Given the description of an element on the screen output the (x, y) to click on. 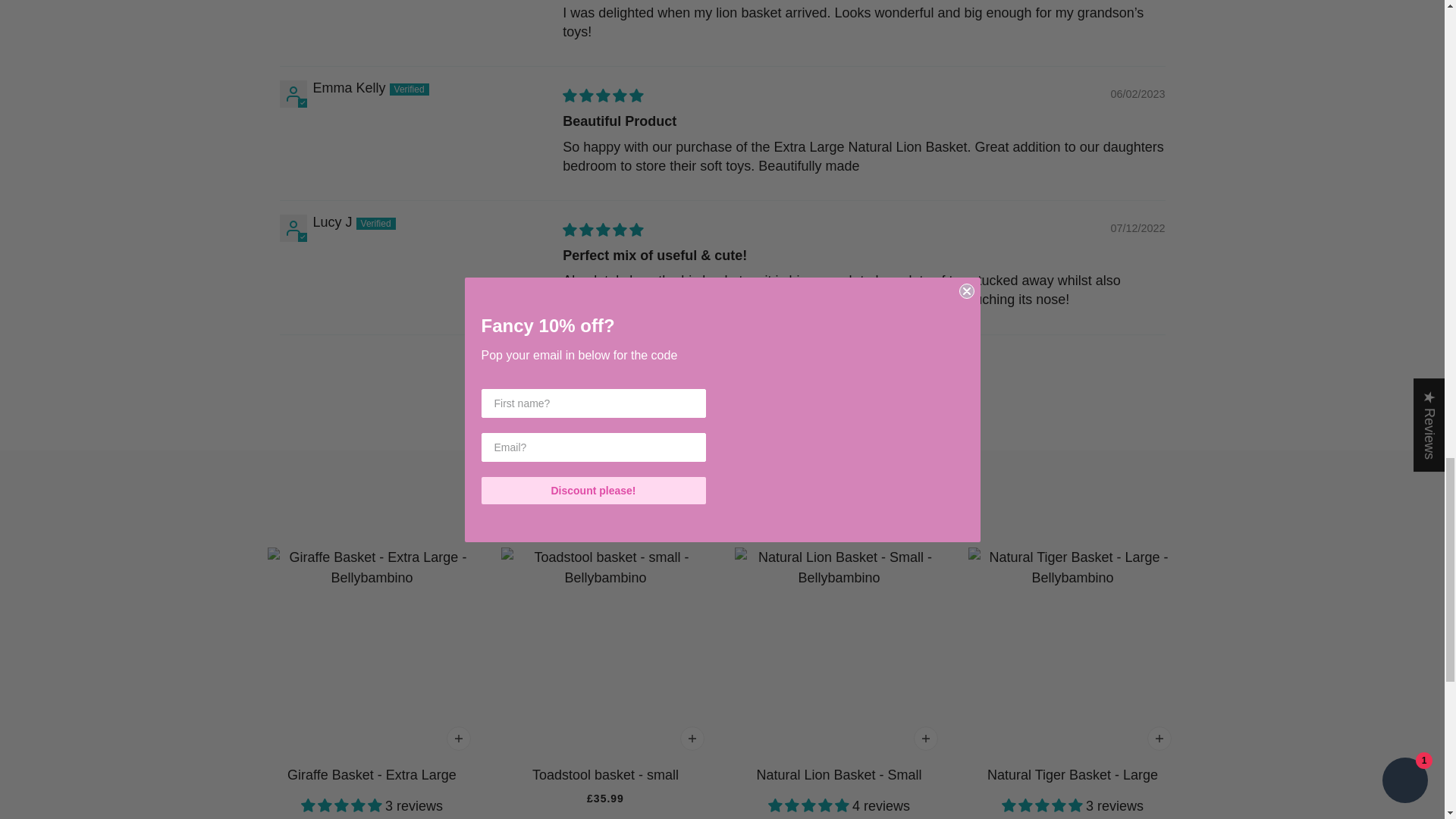
Load More (722, 362)
